Given the description of an element on the screen output the (x, y) to click on. 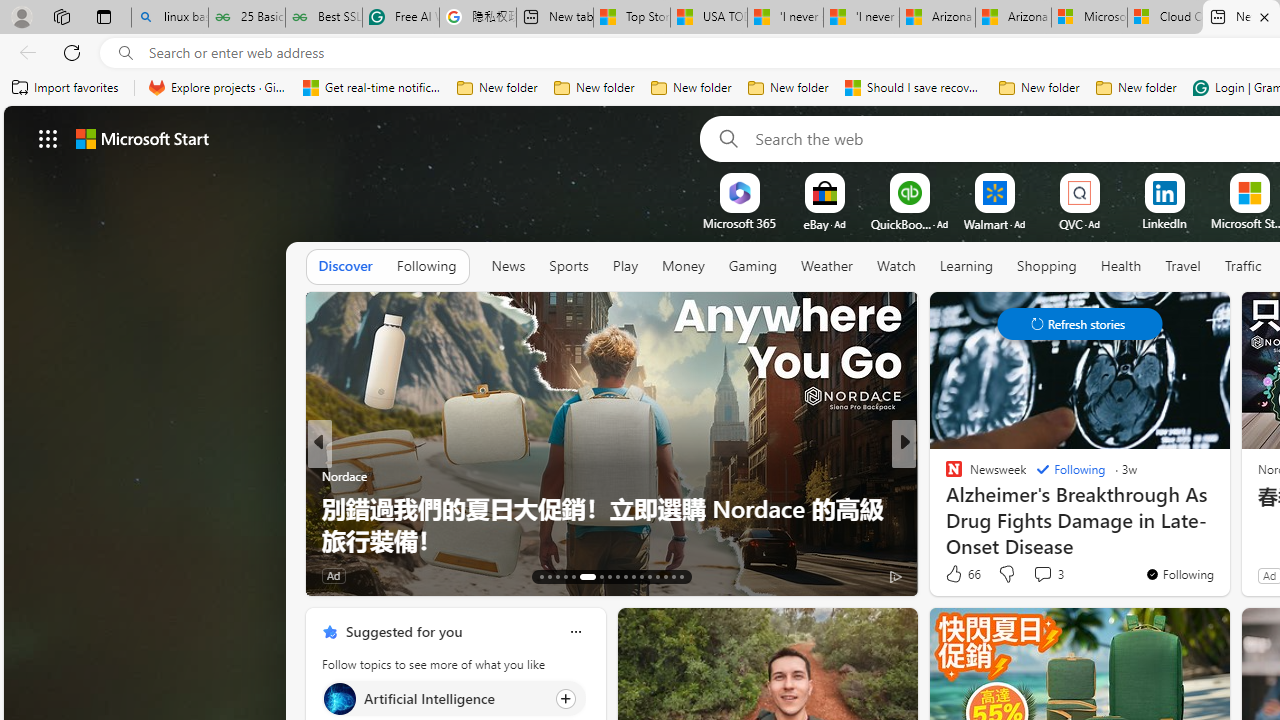
linux basic - Search (169, 17)
Class: control (1079, 323)
View comments 3 Comment (1048, 574)
AutomationID: tab-28 (673, 576)
477 Like (959, 574)
AutomationID: tab-15 (556, 576)
Housely (329, 507)
15 Cool Life Facts You Won't Learn in School (611, 539)
Learning (966, 267)
